Given the description of an element on the screen output the (x, y) to click on. 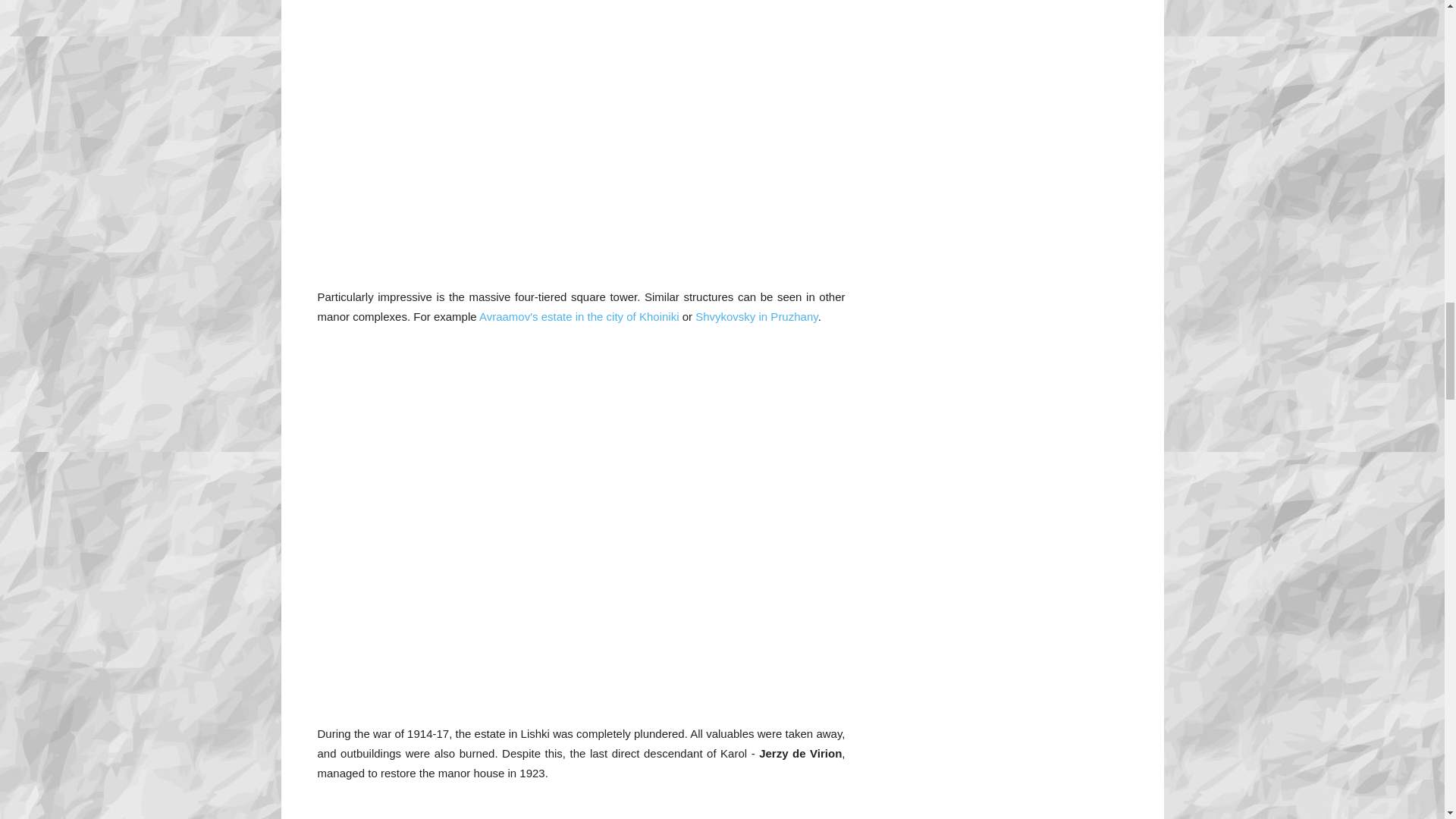
Avraamov's estate in the city of Khoiniki (579, 316)
Shvykovsky in Pruzhany (755, 316)
